Given the description of an element on the screen output the (x, y) to click on. 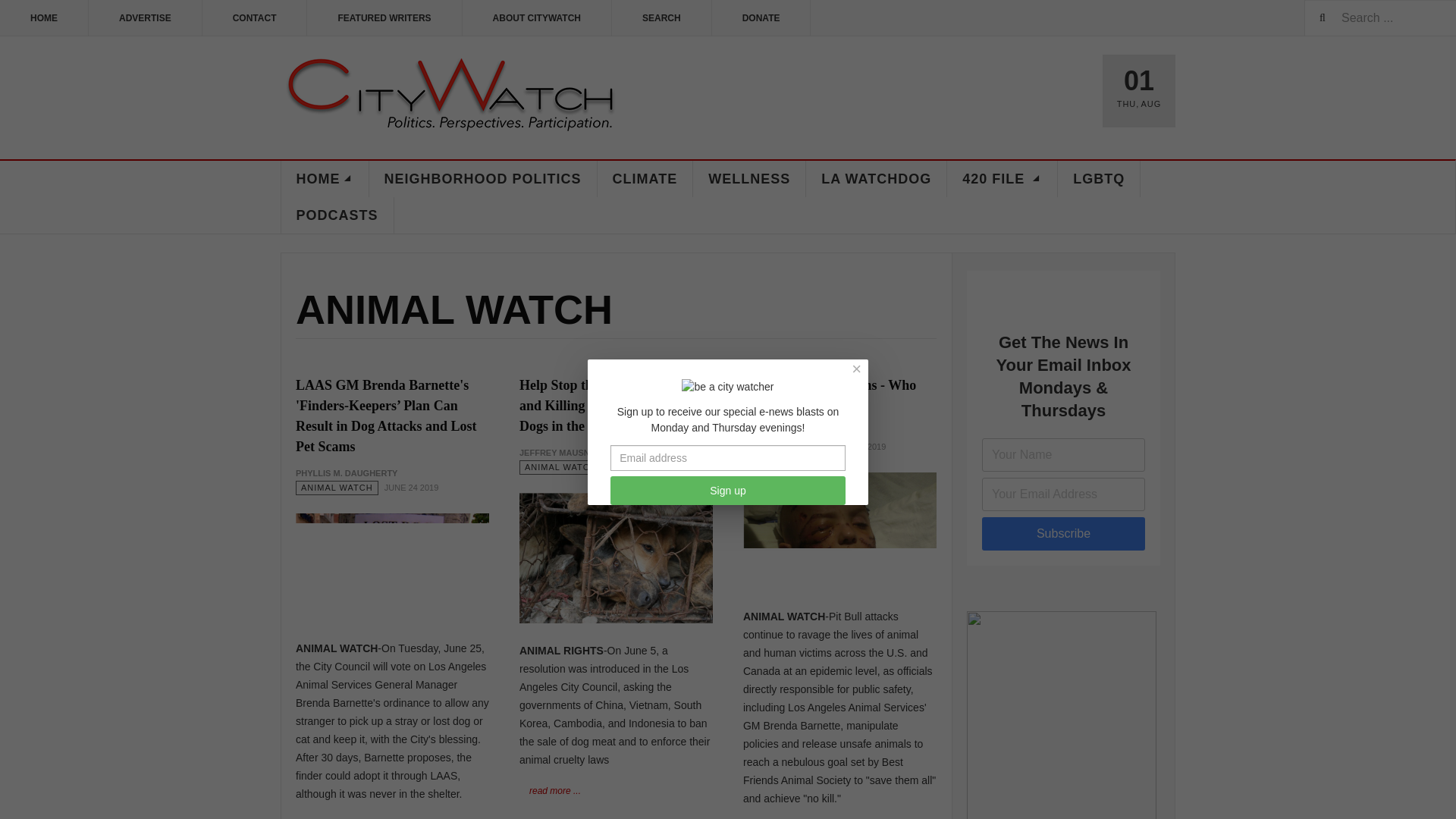
NEIGHBORHOOD POLITICS (482, 178)
HOME (44, 18)
FEATURED WRITERS (384, 18)
Written by  (793, 432)
Category:  (560, 467)
LGBTQ (1099, 178)
PODCASTS (337, 215)
CityWatch Los Angeles (451, 94)
WELLNESS (749, 178)
Pit Bull Attack Victims - Who Speaks for Them? (828, 395)
DONATE (760, 18)
CONTACT (254, 18)
ABOUT CITYWATCH (537, 18)
Written by  (346, 473)
